Given the description of an element on the screen output the (x, y) to click on. 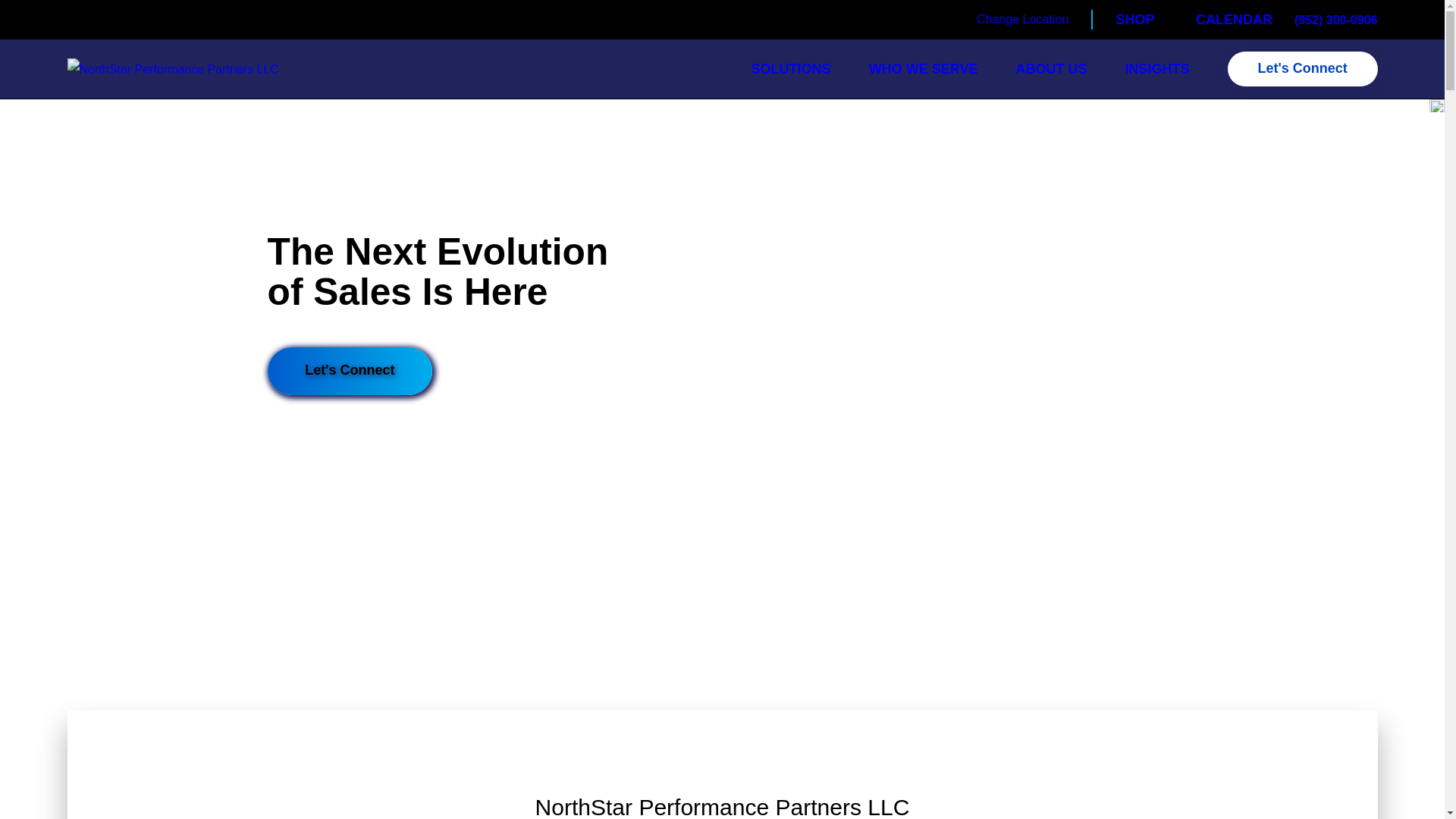
WHO WE SERVE (923, 68)
Home (172, 69)
ABOUT US (1050, 68)
SOLUTIONS (791, 68)
INSIGHTS (1157, 68)
Change Location (1022, 18)
CALENDAR (1233, 19)
SHOP (1135, 19)
